Given the description of an element on the screen output the (x, y) to click on. 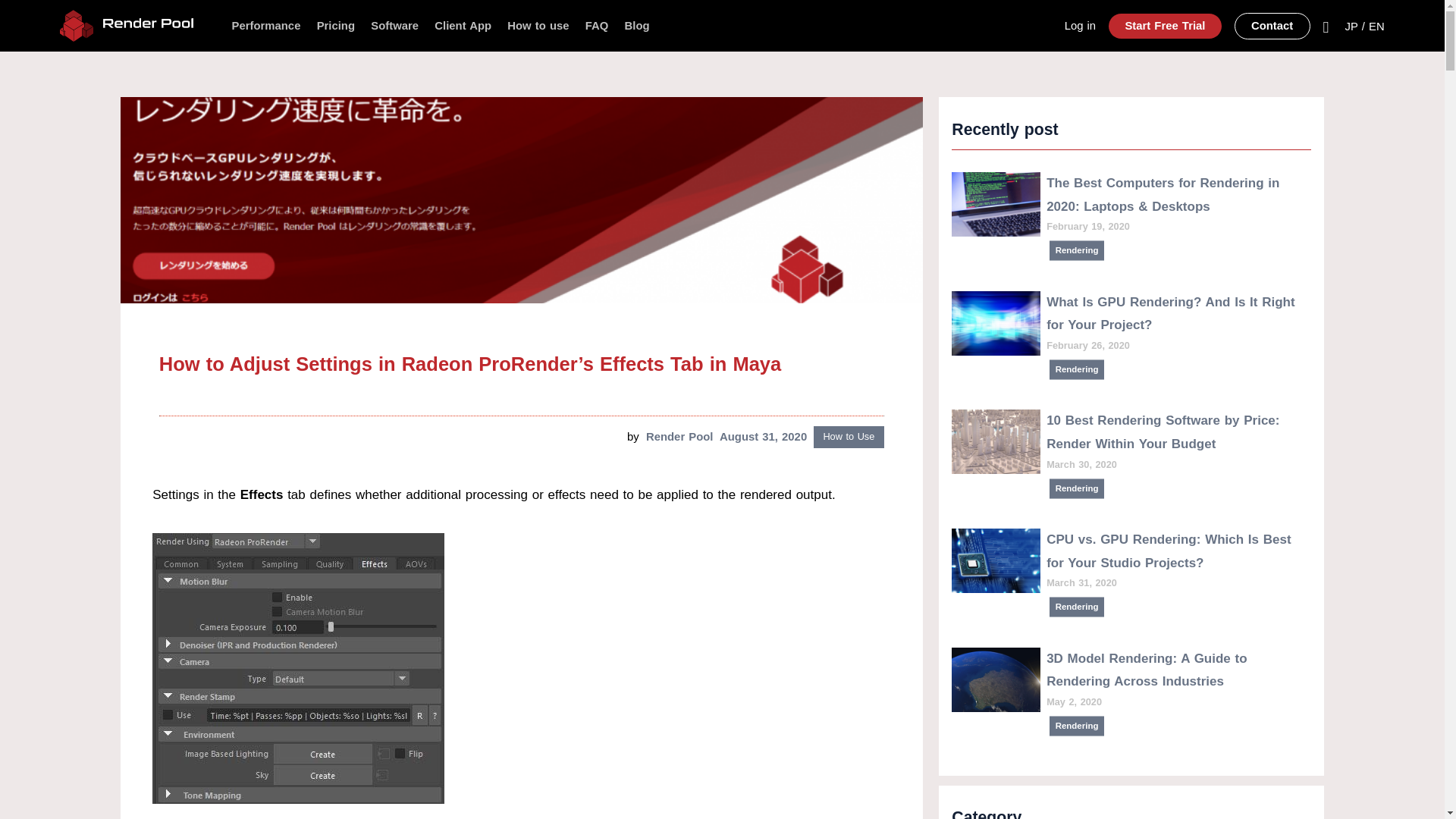
Rendering (1079, 608)
Log in (1080, 25)
3D Model Rendering: A Guide to Rendering Across Industries (1146, 670)
Contact (1272, 25)
Rendering (1079, 726)
How to Use (848, 436)
Client App (462, 25)
Rendering (1079, 370)
Pricing (336, 25)
